Given the description of an element on the screen output the (x, y) to click on. 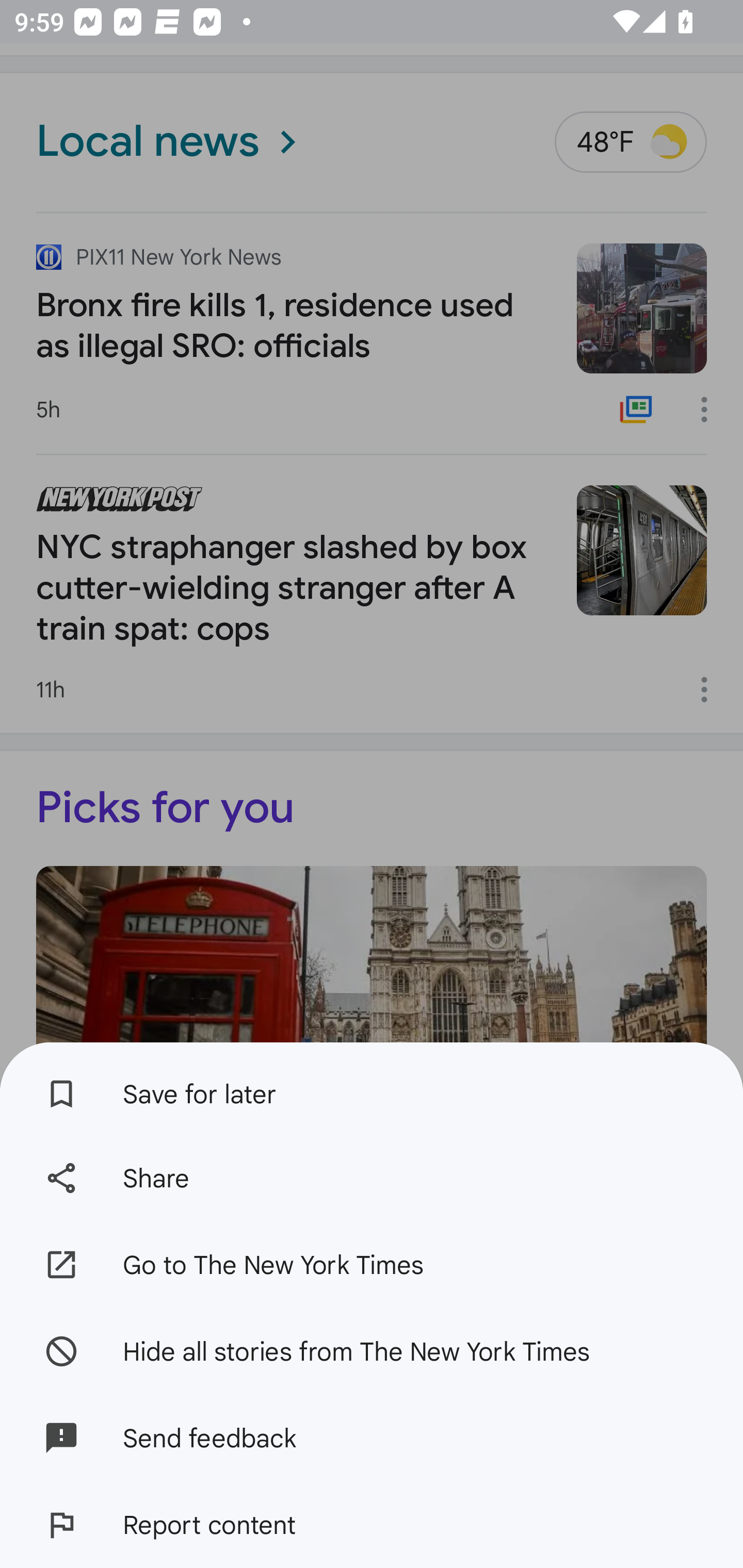
Save for later (371, 1088)
Share (371, 1178)
Go to The New York Times (371, 1264)
Hide all stories from The New York Times (371, 1350)
Send feedback (371, 1437)
Report content (371, 1524)
